Given the description of an element on the screen output the (x, y) to click on. 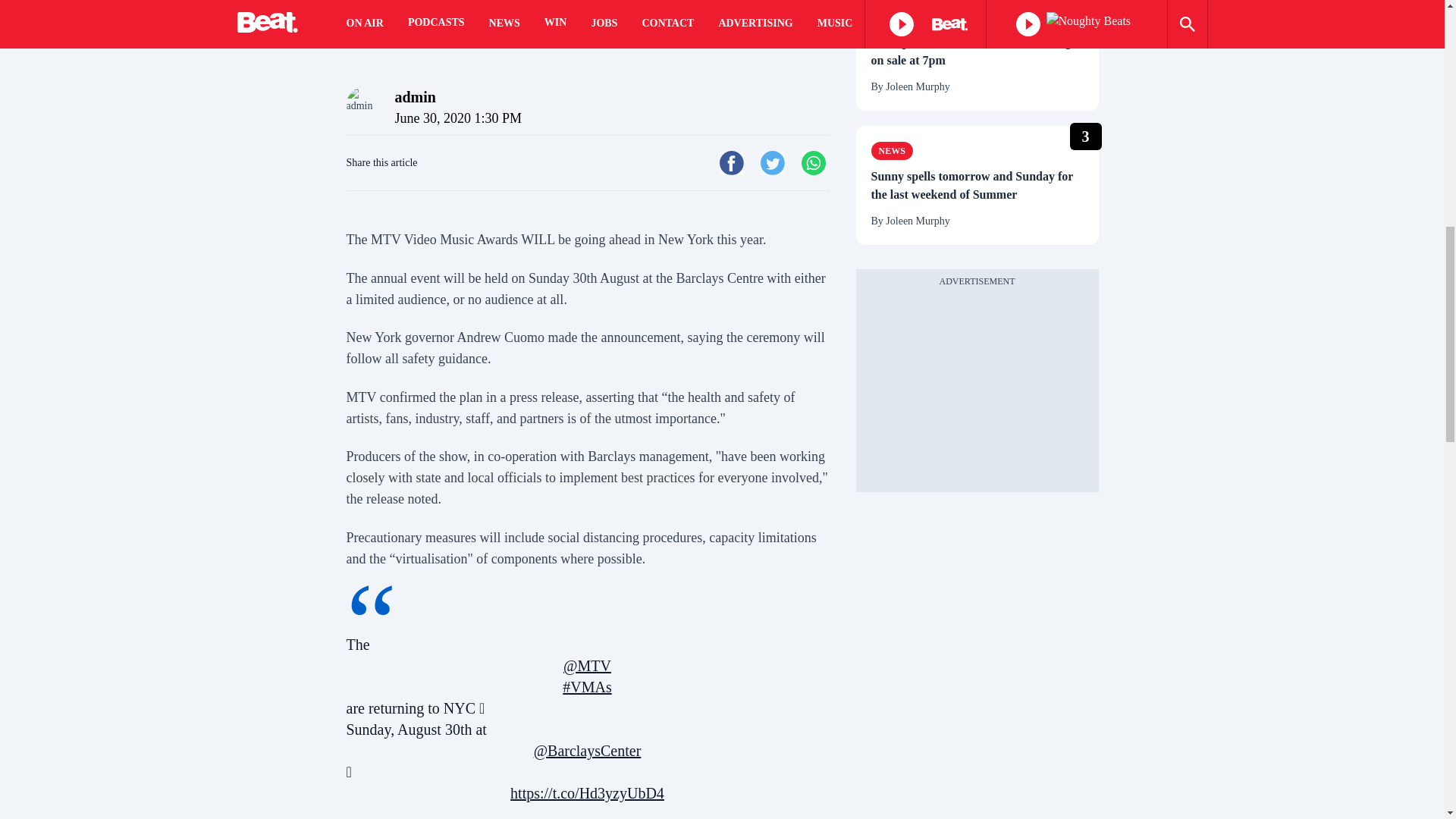
Oasis pre-sale tickets for Croke Park go on sale at 7pm (976, 51)
Entertainment (918, 16)
News (891, 150)
